Given the description of an element on the screen output the (x, y) to click on. 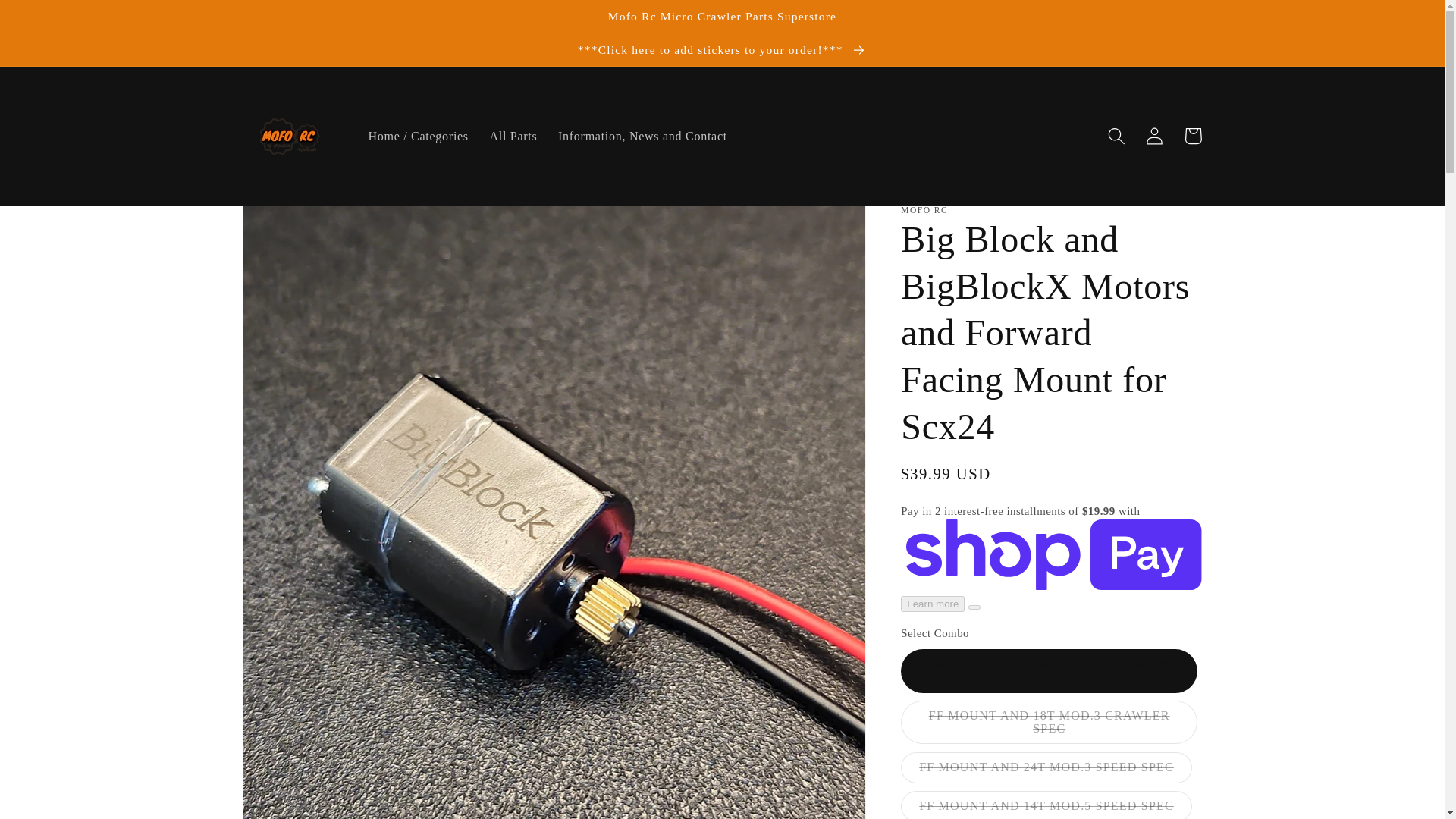
Log in (1154, 136)
Skip to content (55, 22)
All Parts (513, 135)
Cart (1192, 136)
Skip to product information (296, 227)
Information, News and Contact (642, 135)
